Given the description of an element on the screen output the (x, y) to click on. 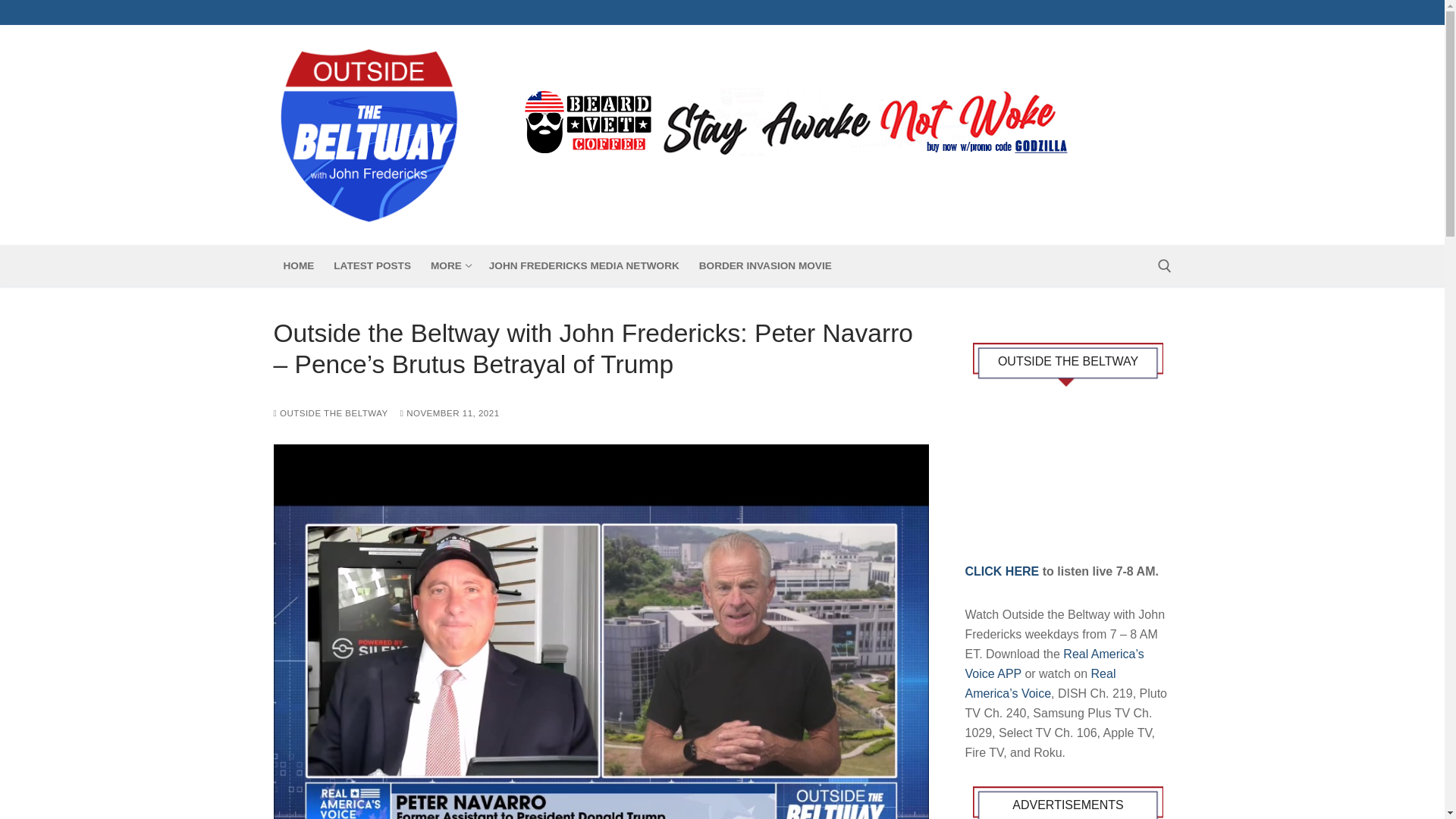
NOVEMBER 11, 2021 (449, 412)
JOHN FREDERICKS MEDIA NETWORK (583, 265)
CLICK HERE (1001, 570)
OUTSIDE THE BELTWAY (330, 412)
LATEST POSTS (371, 265)
Watch Outside the Beltway with John Fredericks (1066, 473)
HOME (298, 265)
BORDER INVASION MOVIE (449, 265)
